Given the description of an element on the screen output the (x, y) to click on. 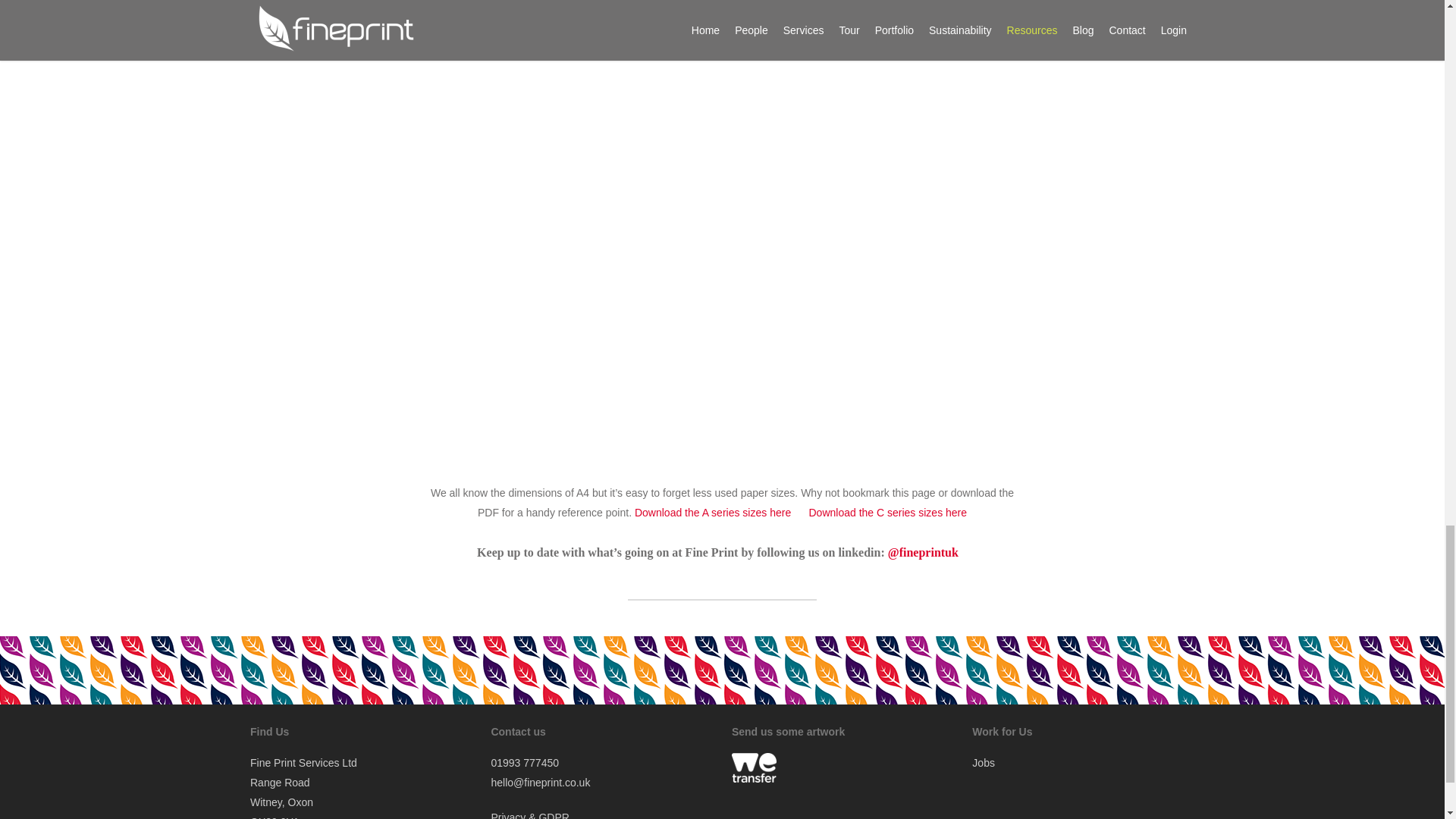
Download the A series sizes here  (715, 512)
Jobs (983, 762)
    Download the C series sizes here (881, 512)
